Given the description of an element on the screen output the (x, y) to click on. 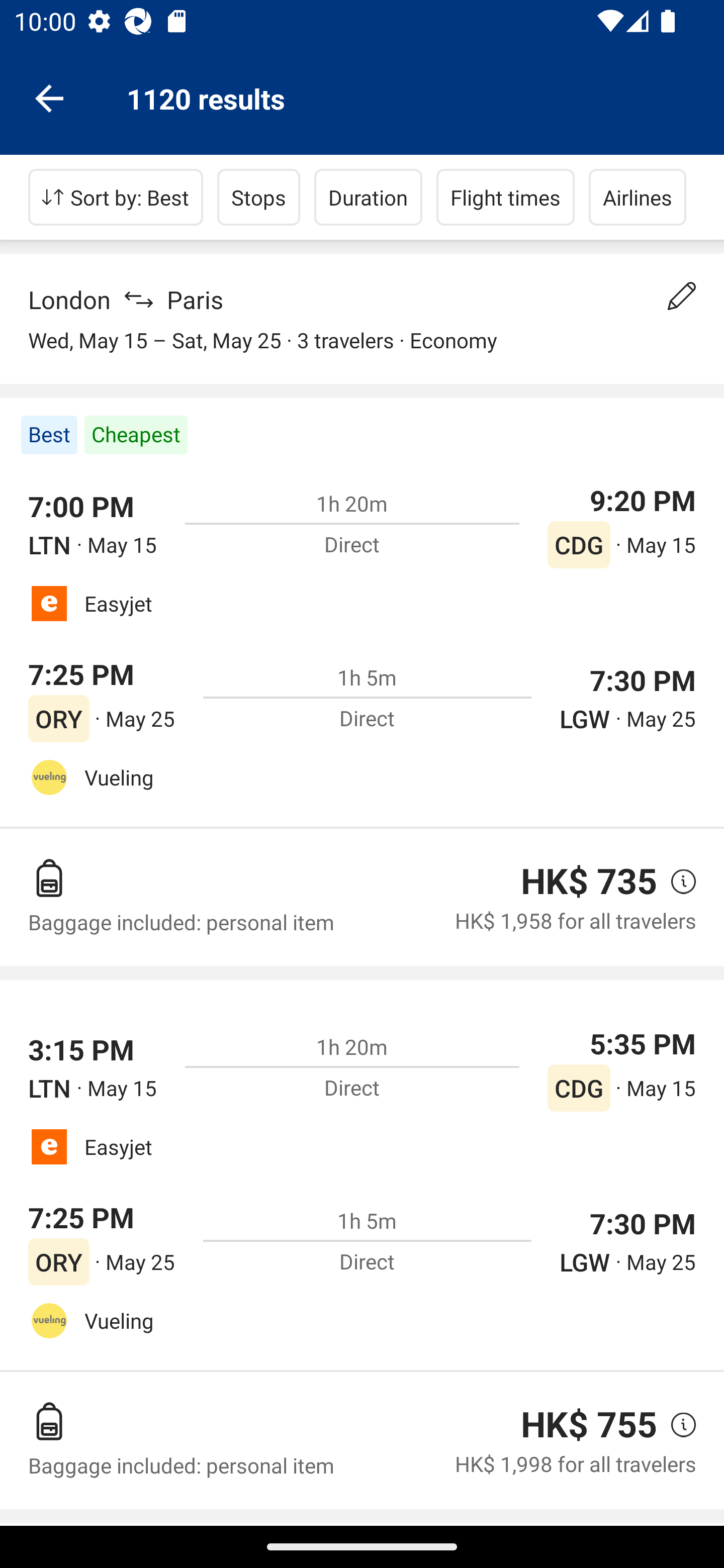
Navigate up (49, 97)
Sort by: Best (115, 197)
Stops (258, 197)
Duration (368, 197)
Flight times (505, 197)
Airlines (637, 197)
Change your search details (681, 296)
HK$ 735 (588, 881)
view price details, opens a pop-up (676, 881)
HK$ 755 (588, 1424)
view price details, opens a pop-up (676, 1424)
